Given the description of an element on the screen output the (x, y) to click on. 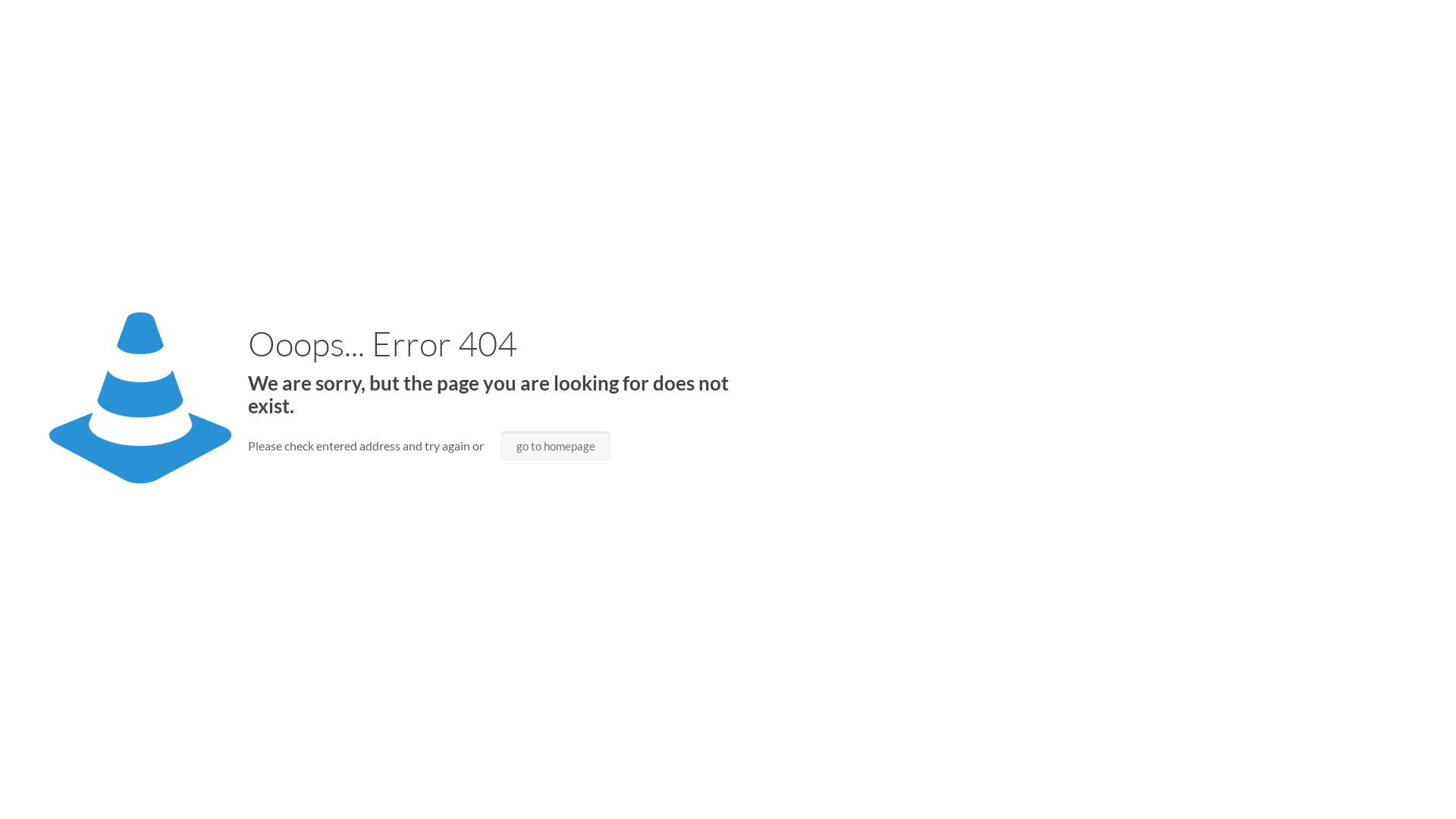
go to homepage Element type: text (555, 445)
